Given the description of an element on the screen output the (x, y) to click on. 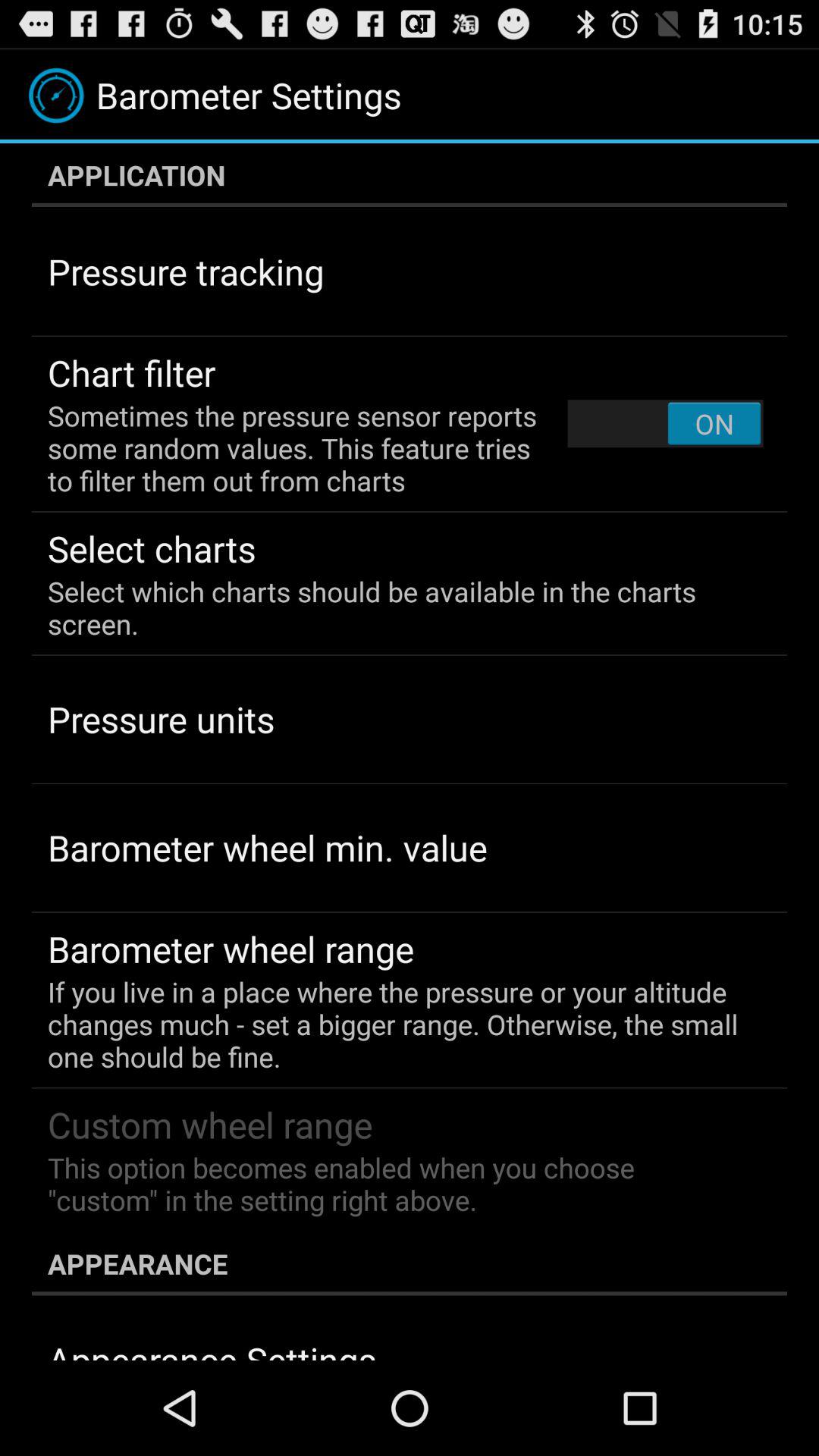
choose icon below the barometer wheel range (399, 1024)
